Given the description of an element on the screen output the (x, y) to click on. 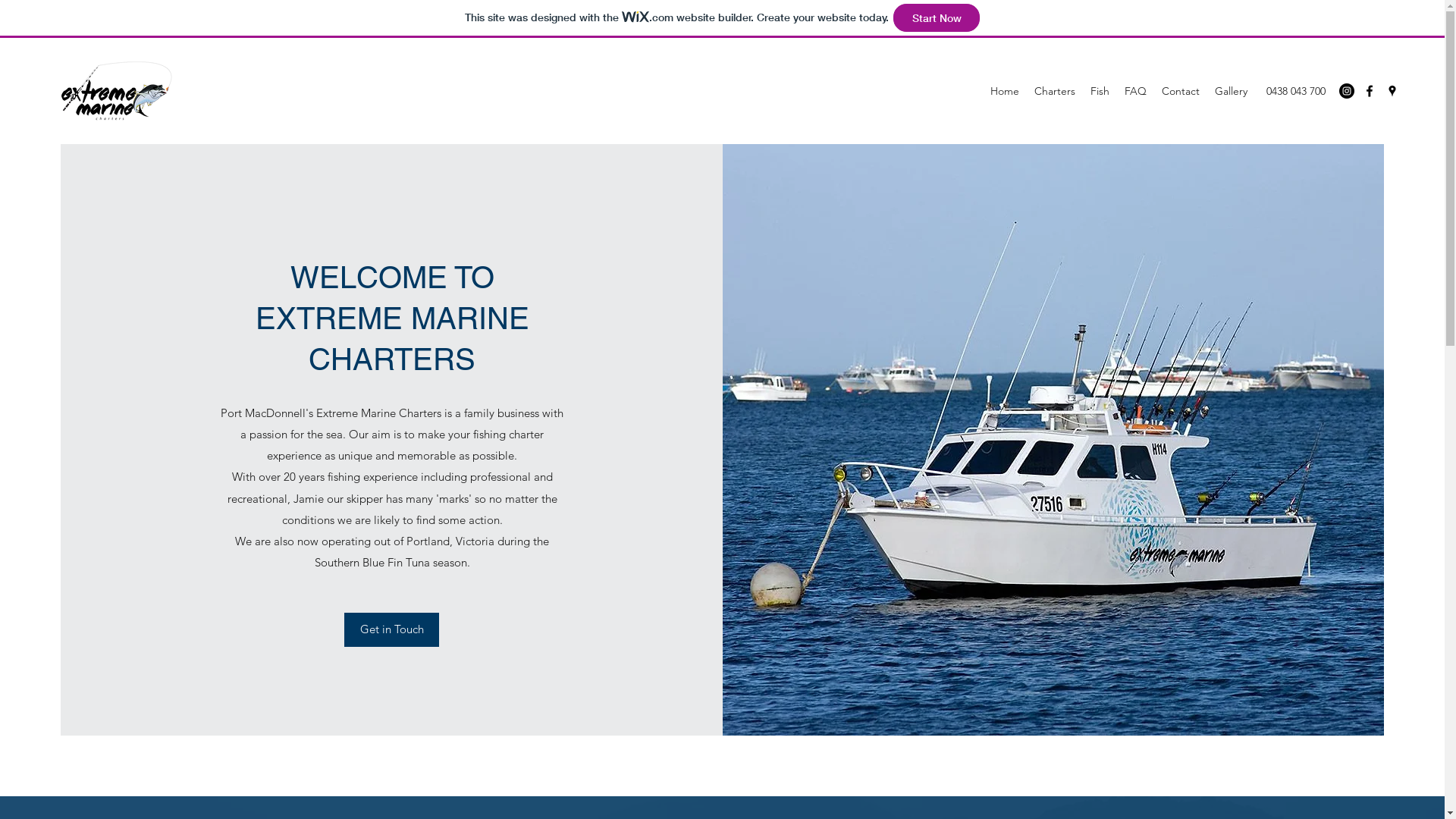
Home Element type: text (1004, 90)
FAQ Element type: text (1135, 90)
Charters Element type: text (1054, 90)
Gallery Element type: text (1231, 90)
Get in Touch Element type: text (391, 629)
Fish Element type: text (1099, 90)
Contact Element type: text (1180, 90)
